Given the description of an element on the screen output the (x, y) to click on. 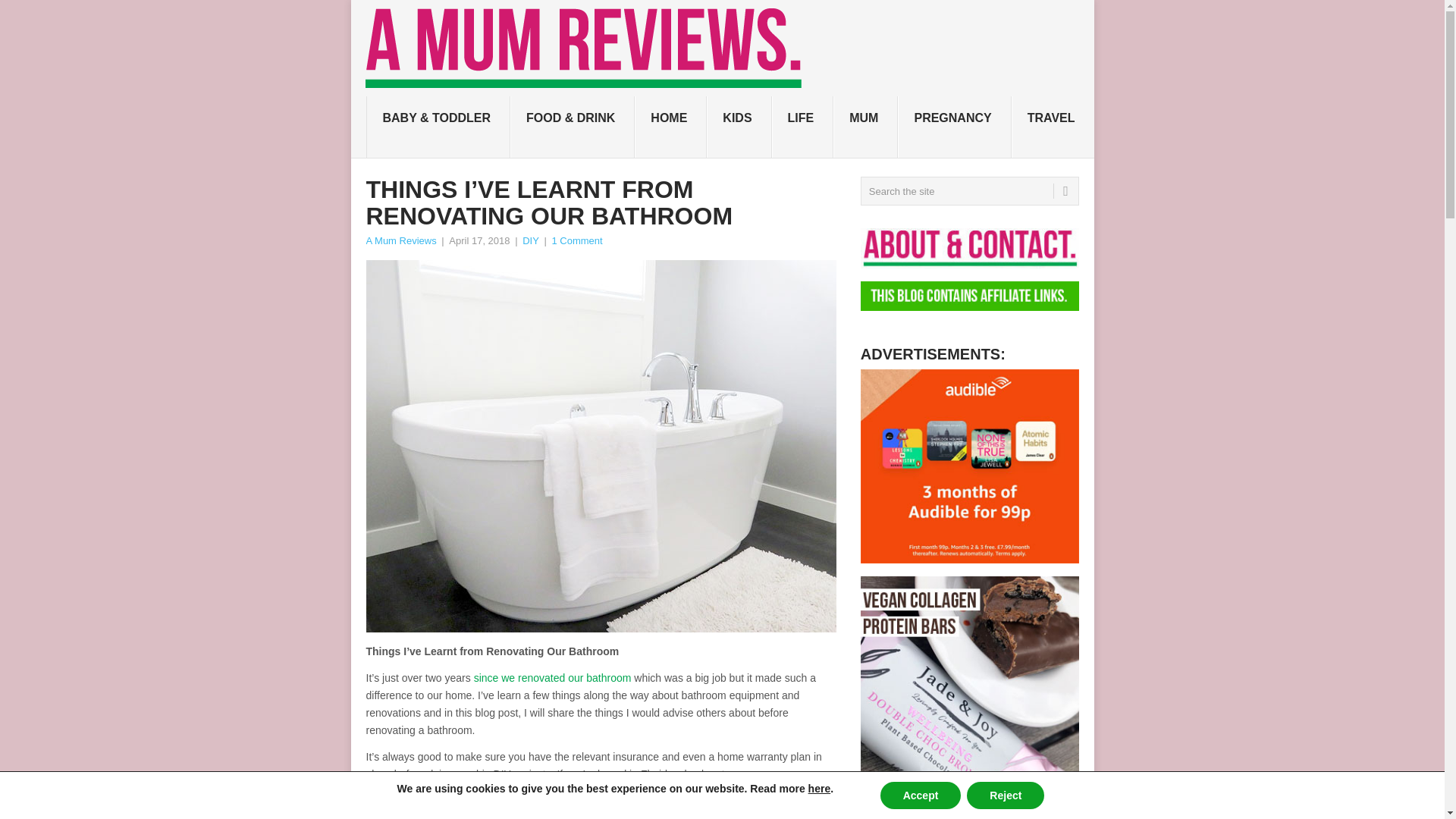
KIDS (738, 127)
Posts by A Mum Reviews (400, 240)
Search the site (969, 190)
HOME (670, 127)
